Given the description of an element on the screen output the (x, y) to click on. 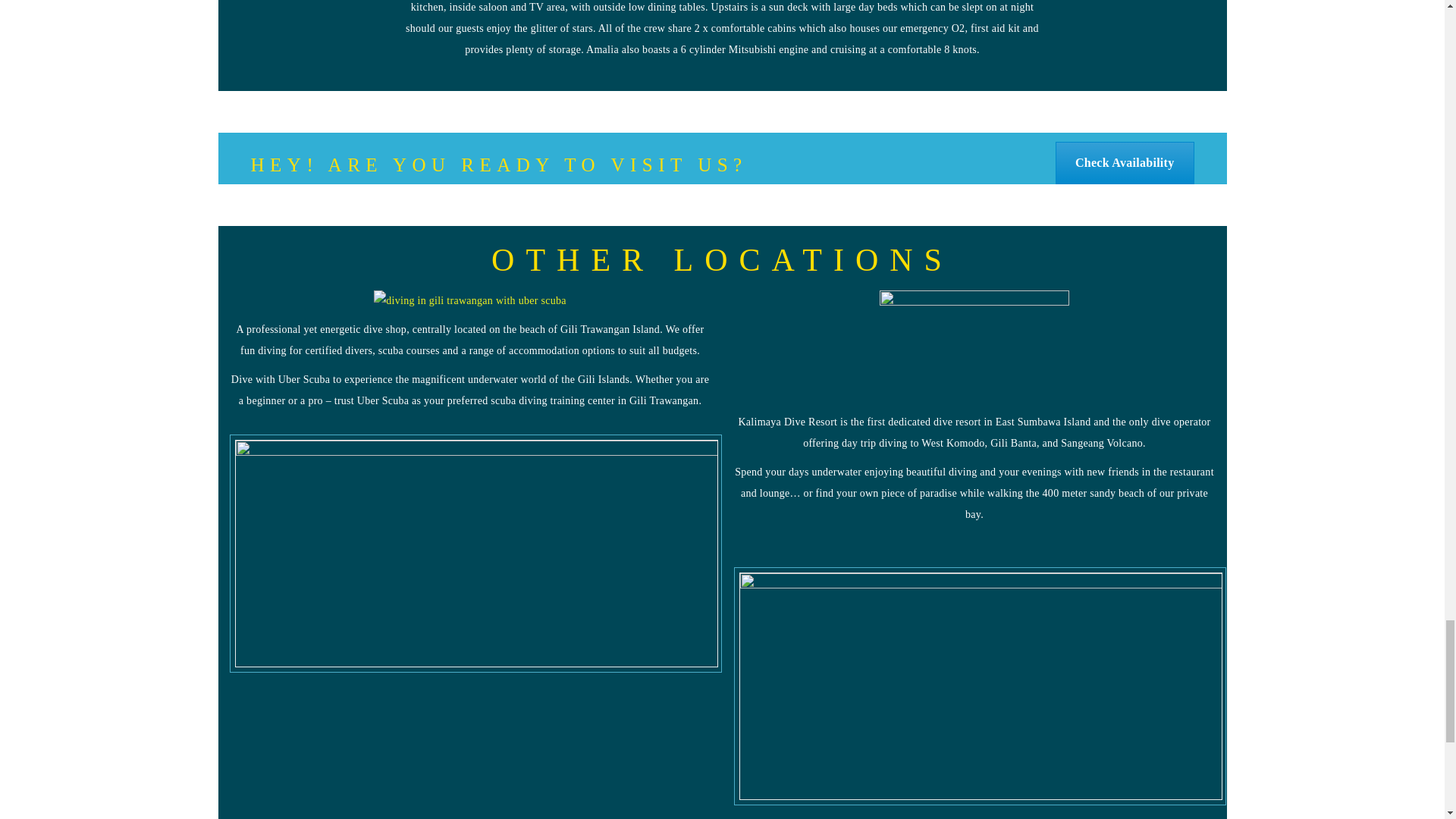
gilt-e (475, 553)
Uber Scuba gili trawangan (470, 301)
222 (973, 347)
